Given the description of an element on the screen output the (x, y) to click on. 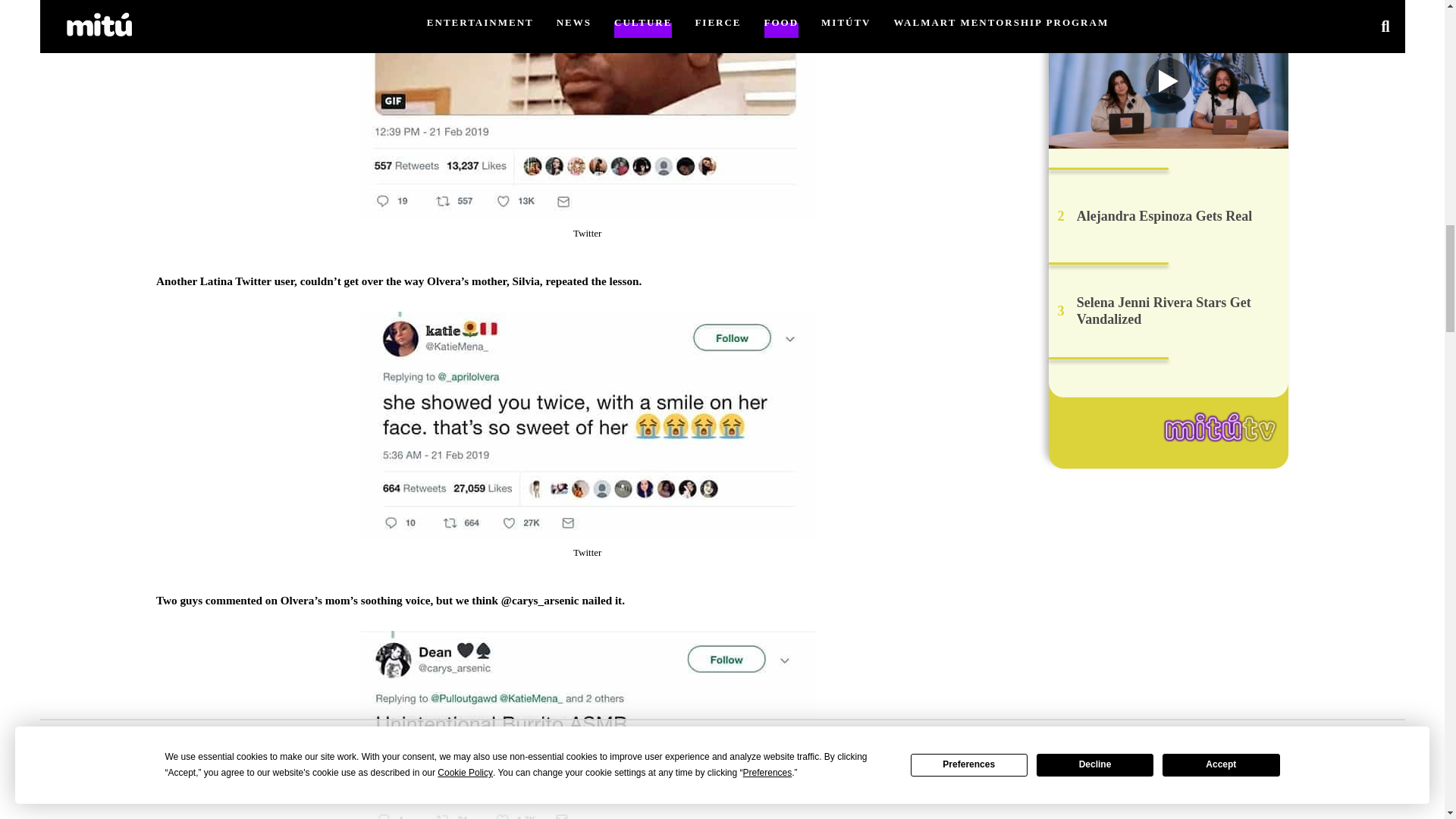
DOJ Sues Apple for Smartphone Monopoly (1180, 3)
Alejandra Espinoza Gets Real (1164, 216)
Selena Jenni Rivera Stars Get Vandalized (1180, 310)
